Given the description of an element on the screen output the (x, y) to click on. 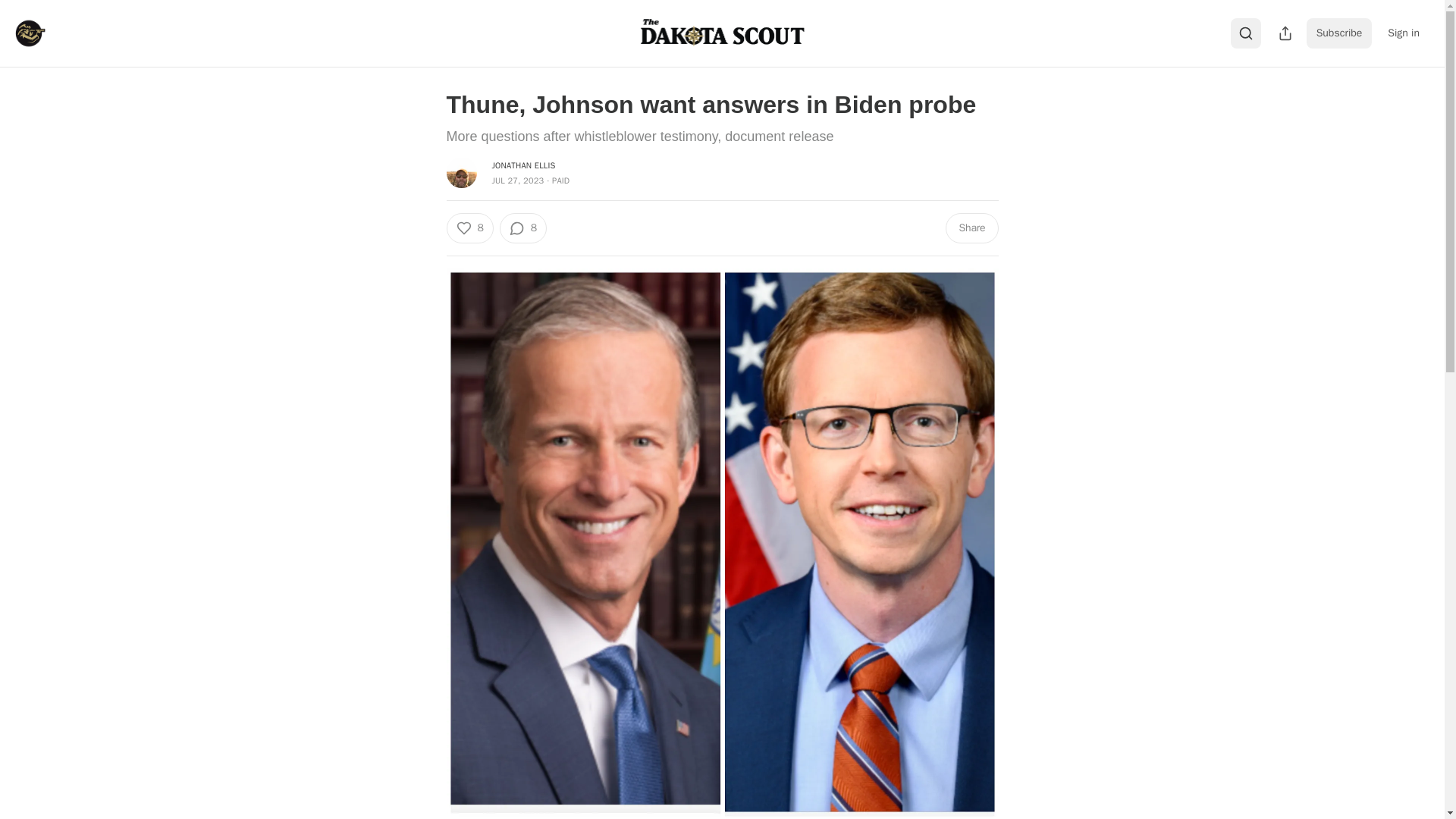
Sign in (1403, 33)
Share (970, 227)
Subscribe (1339, 33)
8 (469, 227)
8 (523, 227)
JONATHAN ELLIS (523, 164)
